Given the description of an element on the screen output the (x, y) to click on. 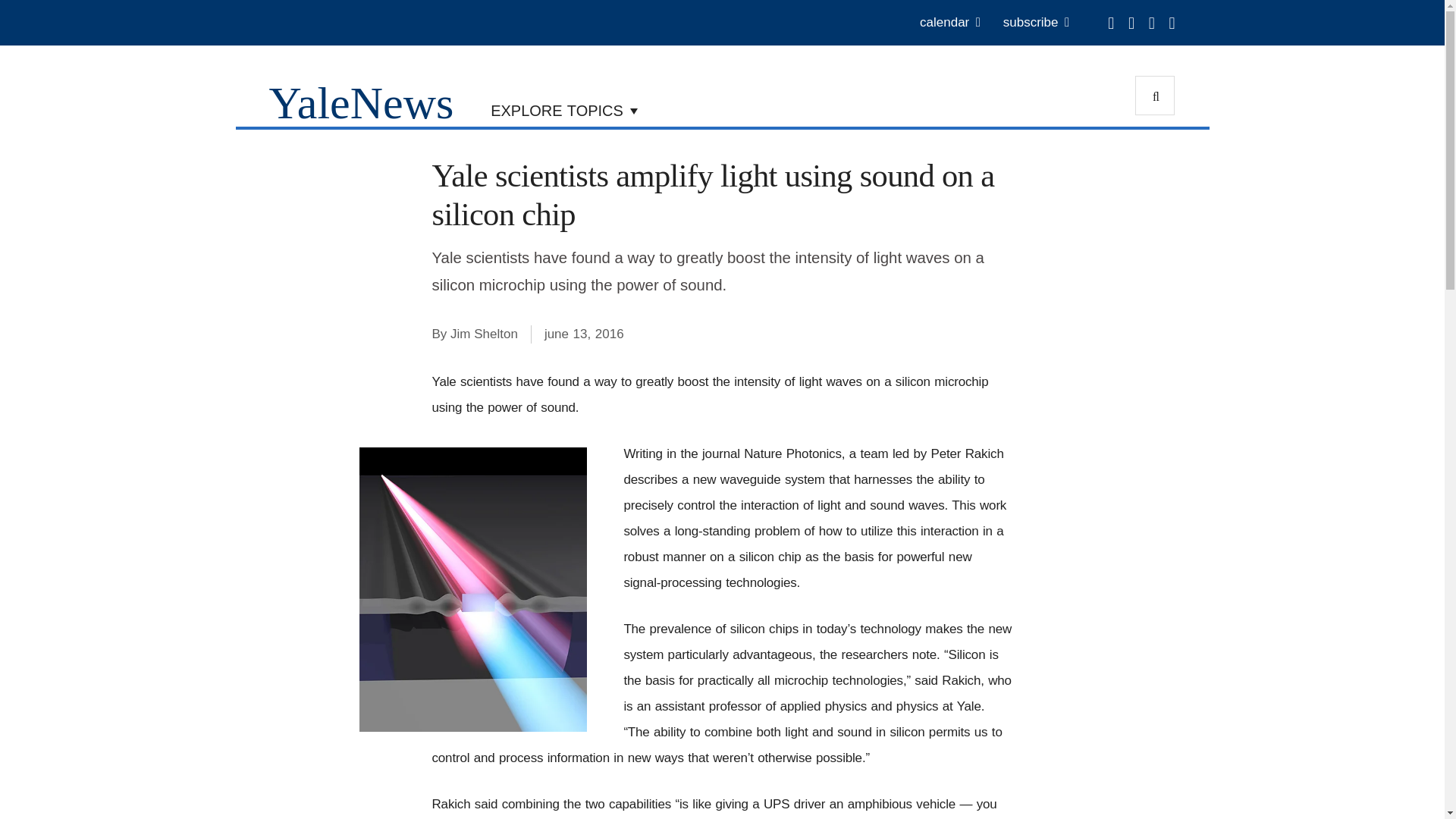
Home (359, 102)
Apply (1154, 95)
subscribe (1035, 22)
calendar (949, 22)
EXPLORE TOPICS (563, 109)
Skip to main content (586, 4)
YaleNews (359, 102)
